Given the description of an element on the screen output the (x, y) to click on. 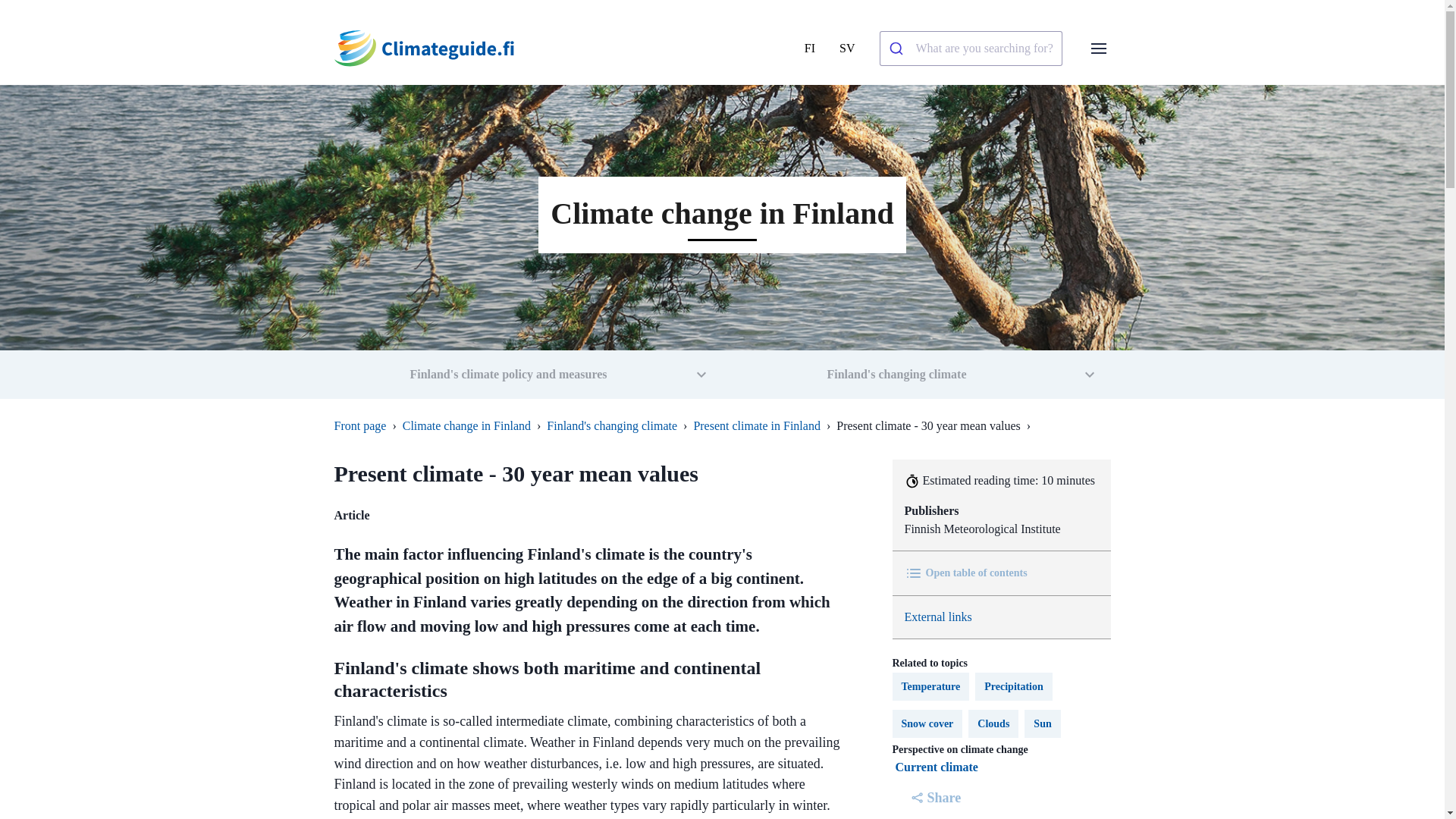
Climate change in Finland (467, 425)
Open table of contents (965, 573)
Temperature (930, 686)
Finland's climate policy and measures (527, 374)
Front page (359, 425)
External links (937, 616)
Menu (1097, 47)
SV (847, 47)
Snow cover (926, 723)
Sun (1042, 723)
